Given the description of an element on the screen output the (x, y) to click on. 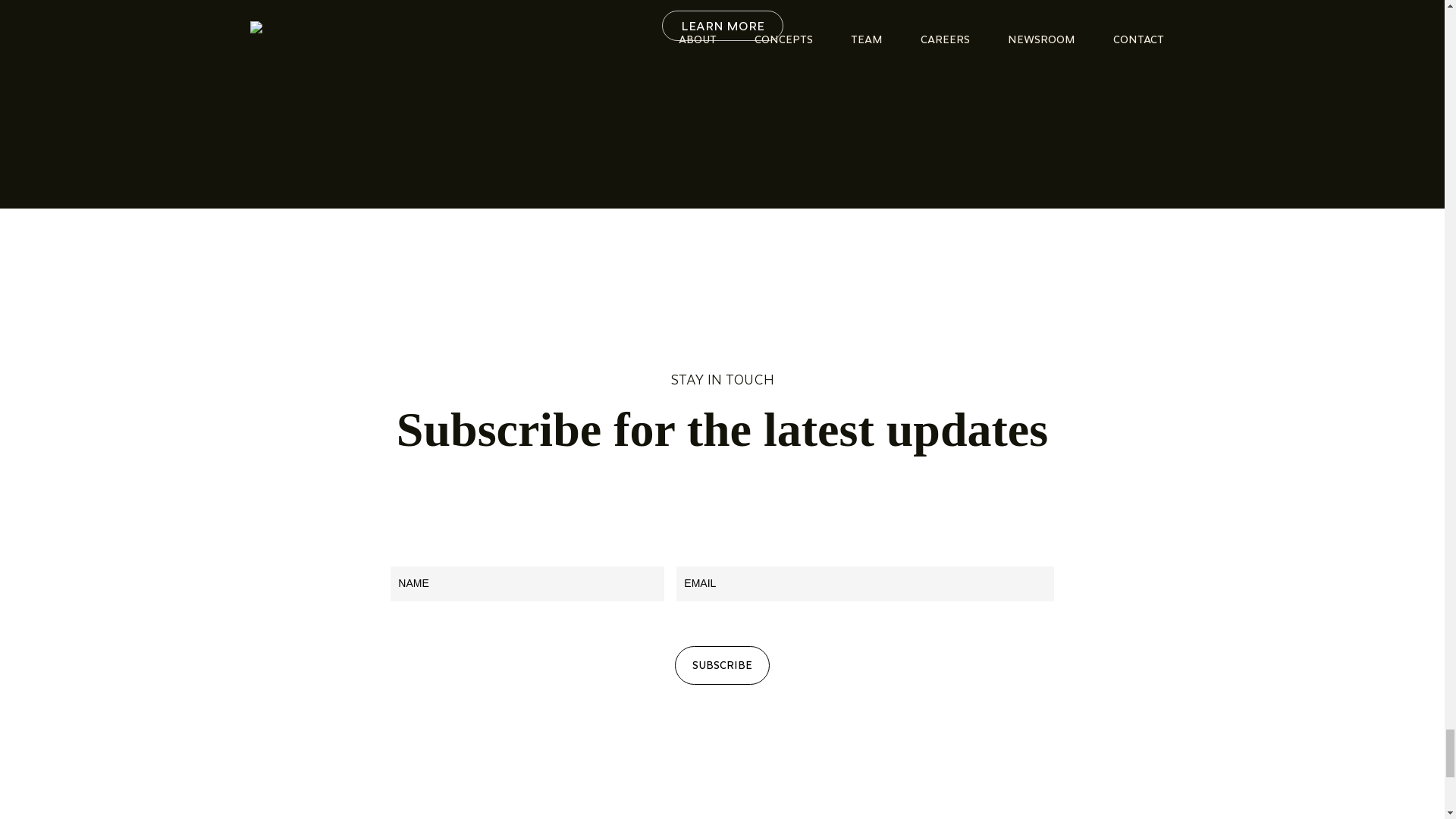
SUBSCRIBE (722, 665)
SUBSCRIBE (722, 665)
LEARN MORE (722, 25)
